Given the description of an element on the screen output the (x, y) to click on. 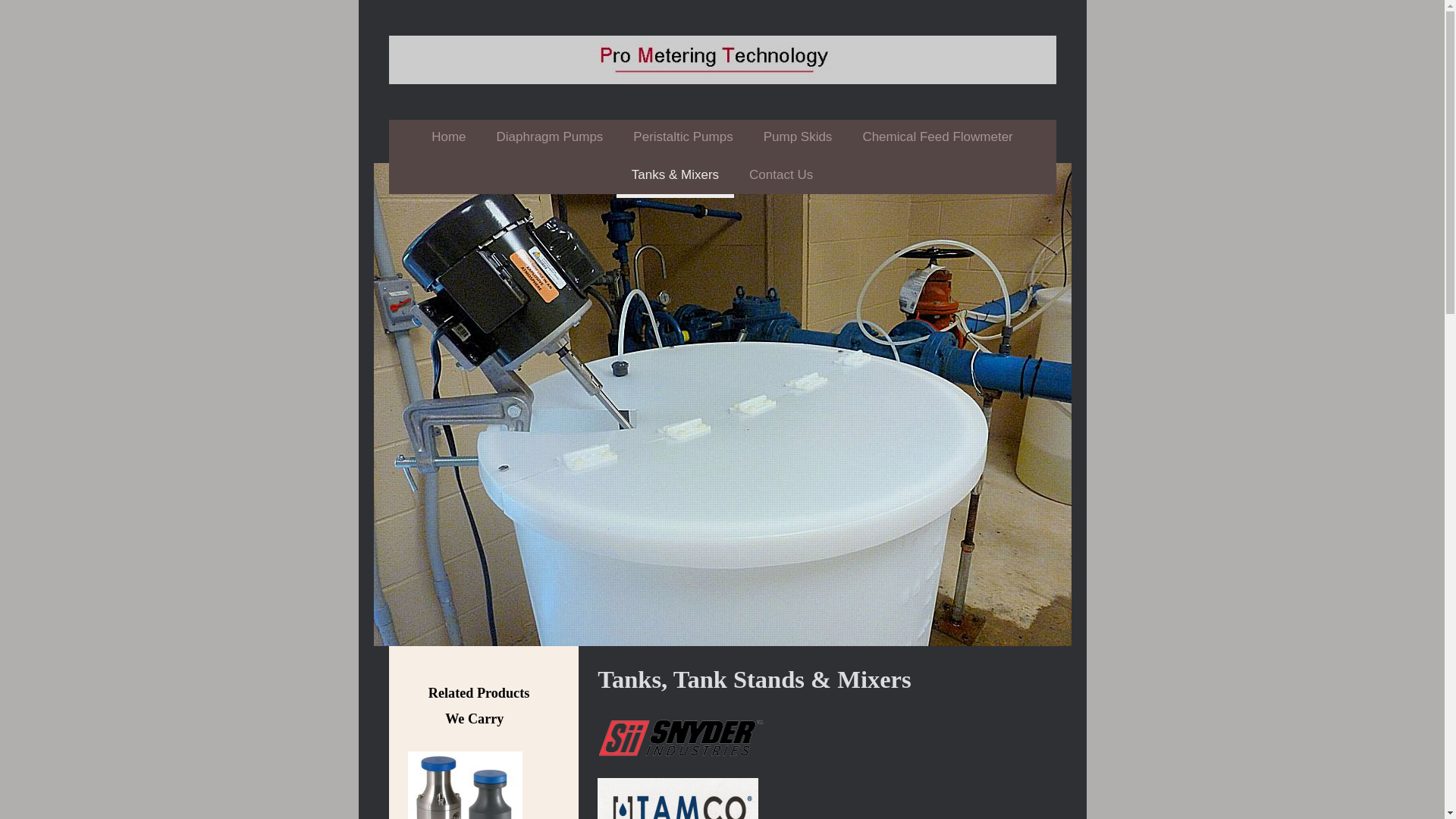
Contact Us (780, 177)
Home (448, 139)
Pump Skids (797, 139)
Chemical Feed Flowmeter (937, 139)
Peristaltic Pumps (682, 139)
Diaphragm Pumps (549, 139)
